Given the description of an element on the screen output the (x, y) to click on. 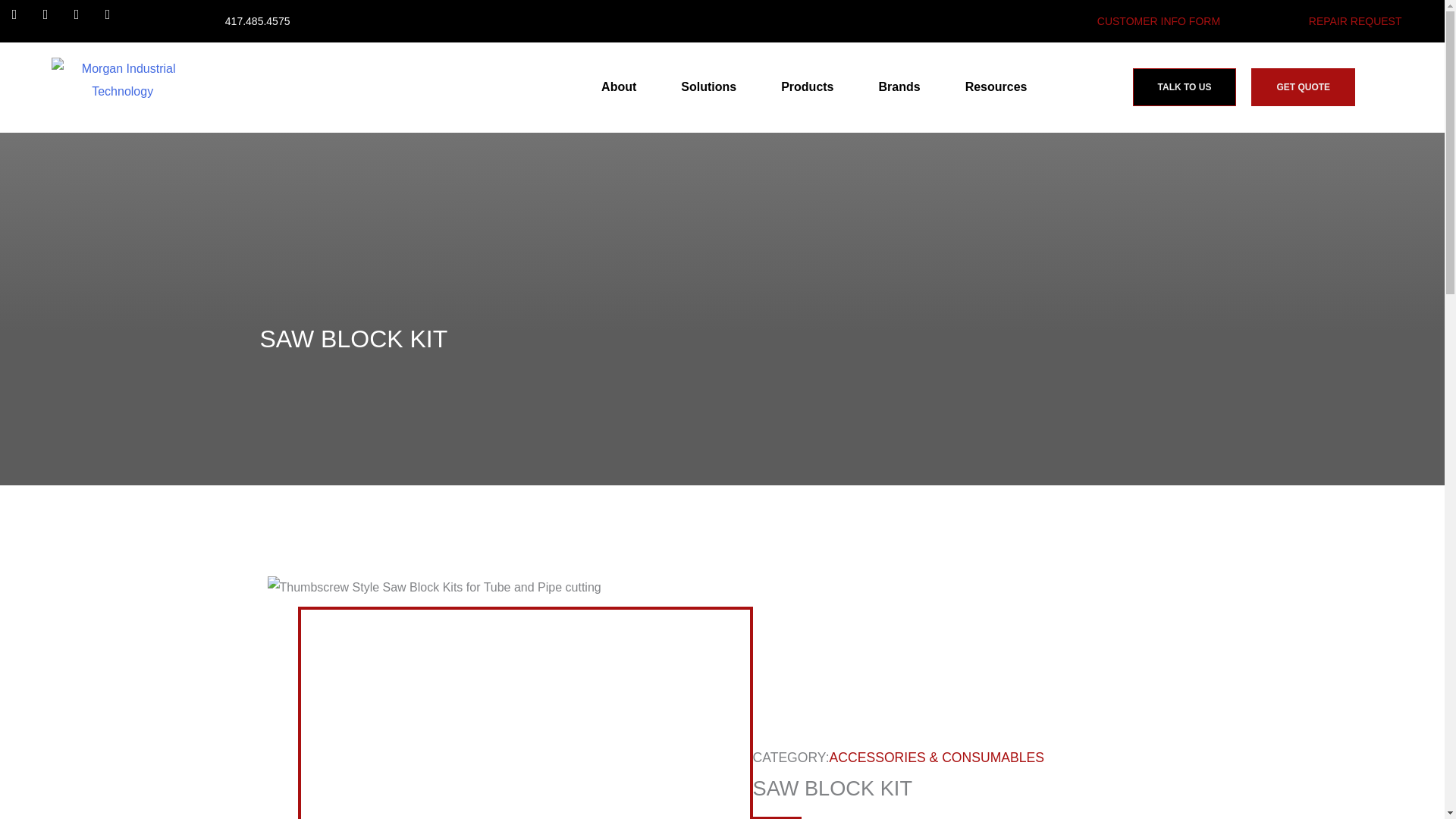
About (622, 86)
GET QUOTE (1302, 86)
Resources (999, 86)
Solutions (712, 86)
TALK TO US (1184, 86)
Tiktok (114, 21)
Brands (903, 86)
CUSTOMER INFO FORM (1158, 21)
REPAIR REQUEST (1355, 21)
Products (810, 86)
